Given the description of an element on the screen output the (x, y) to click on. 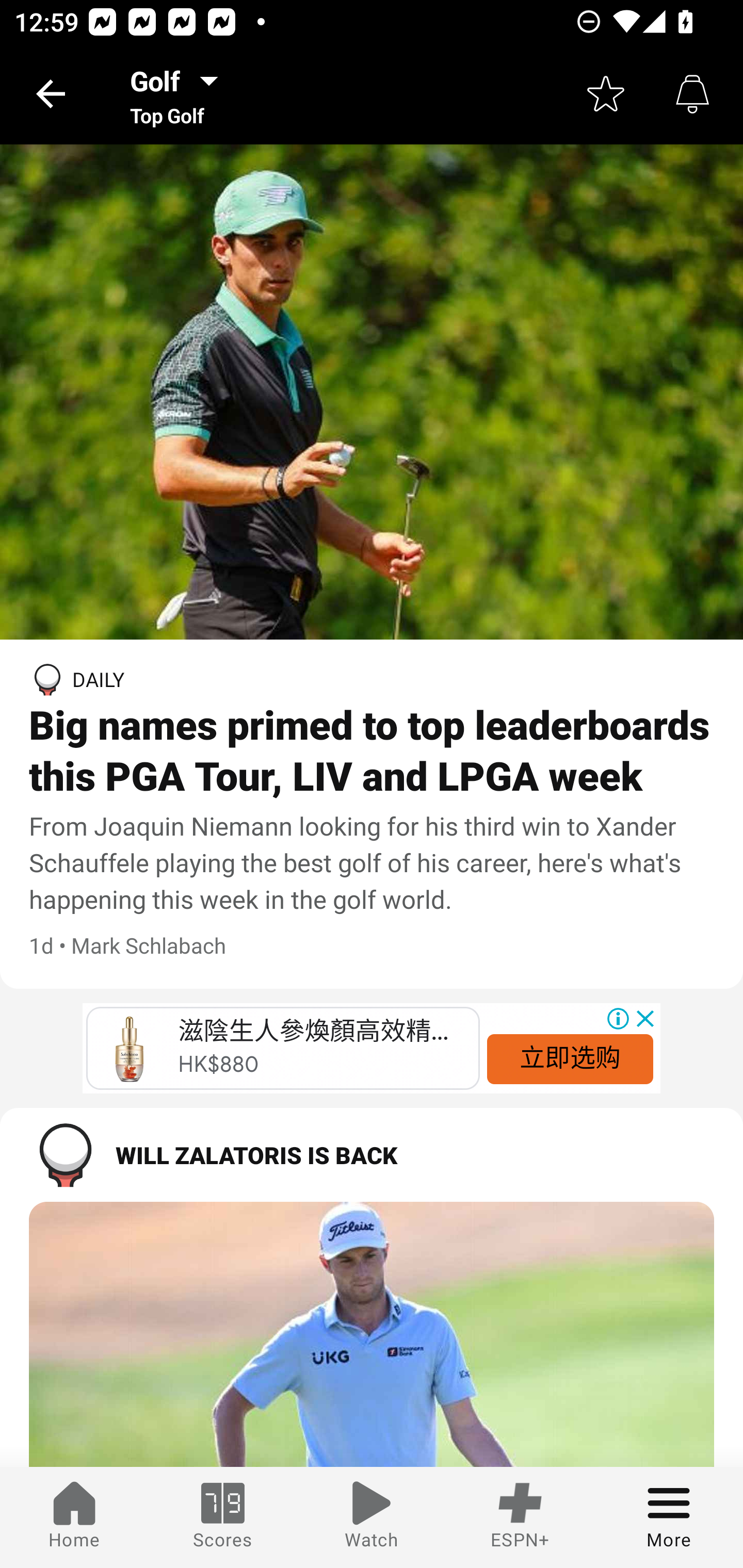
Golf Top Golf (180, 93)
Favorite toggle (605, 93)
Alerts (692, 93)
滋陰生人參煥顏高效精… (312, 1031)
立即选购 (570, 1058)
HK$880 (218, 1064)
WILL ZALATORIS IS BACK (371, 1154)
Home (74, 1517)
Scores (222, 1517)
Watch (371, 1517)
ESPN+ (519, 1517)
